Given the description of an element on the screen output the (x, y) to click on. 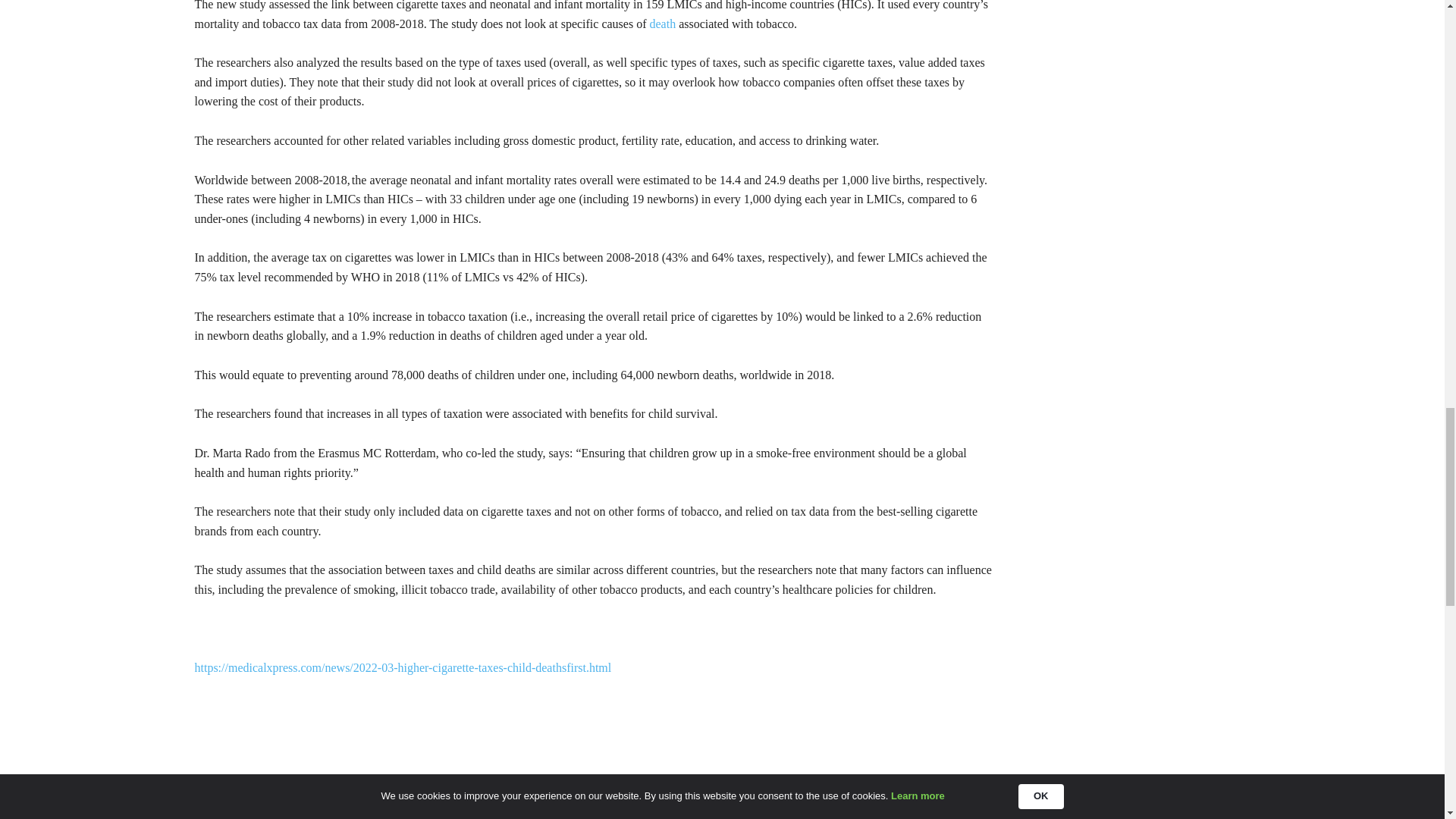
Facebook (300, 799)
Linkedin (335, 799)
